Given the description of an element on the screen output the (x, y) to click on. 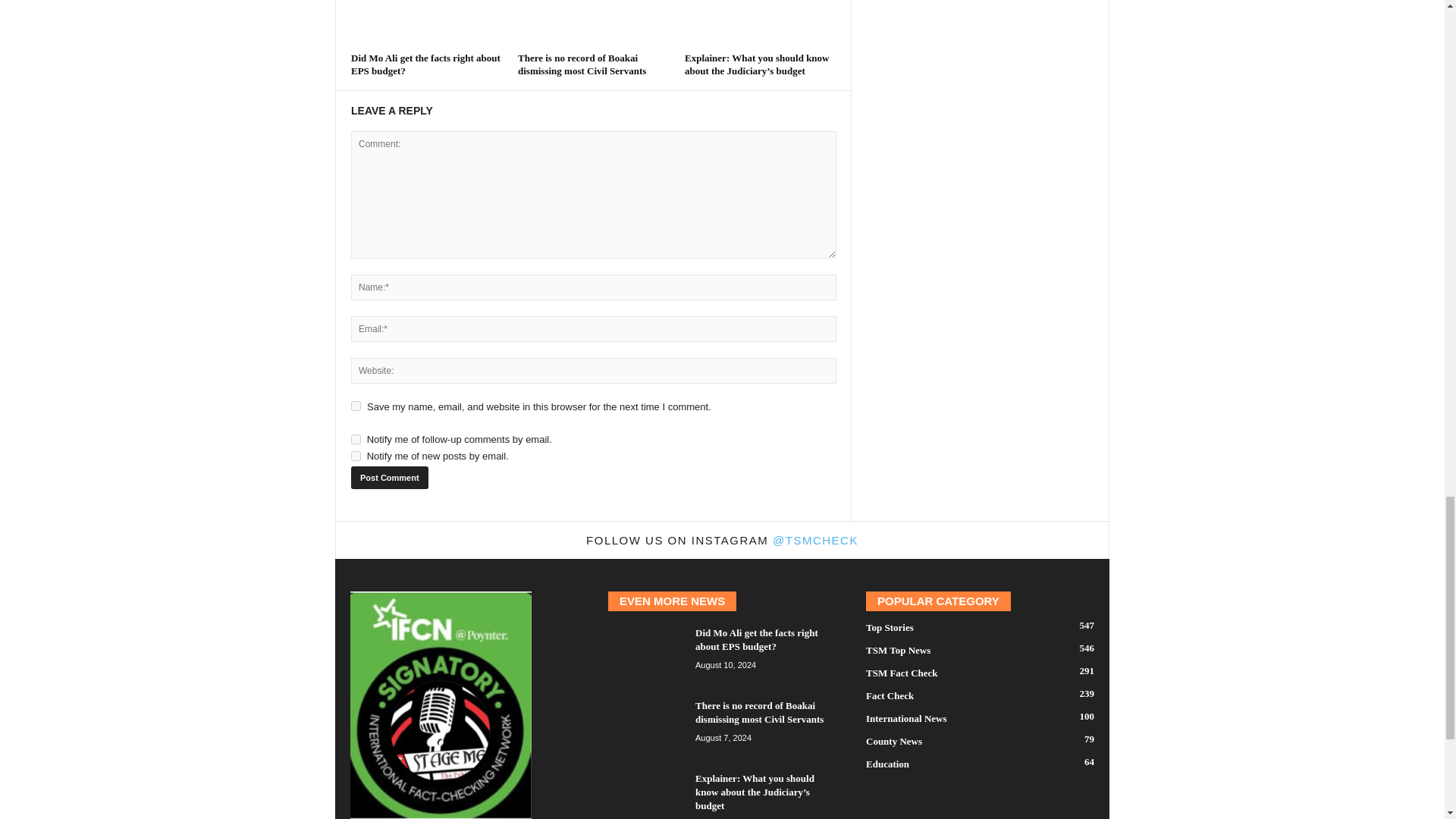
subscribe (355, 456)
subscribe (355, 439)
yes (355, 406)
Post Comment (389, 477)
